Given the description of an element on the screen output the (x, y) to click on. 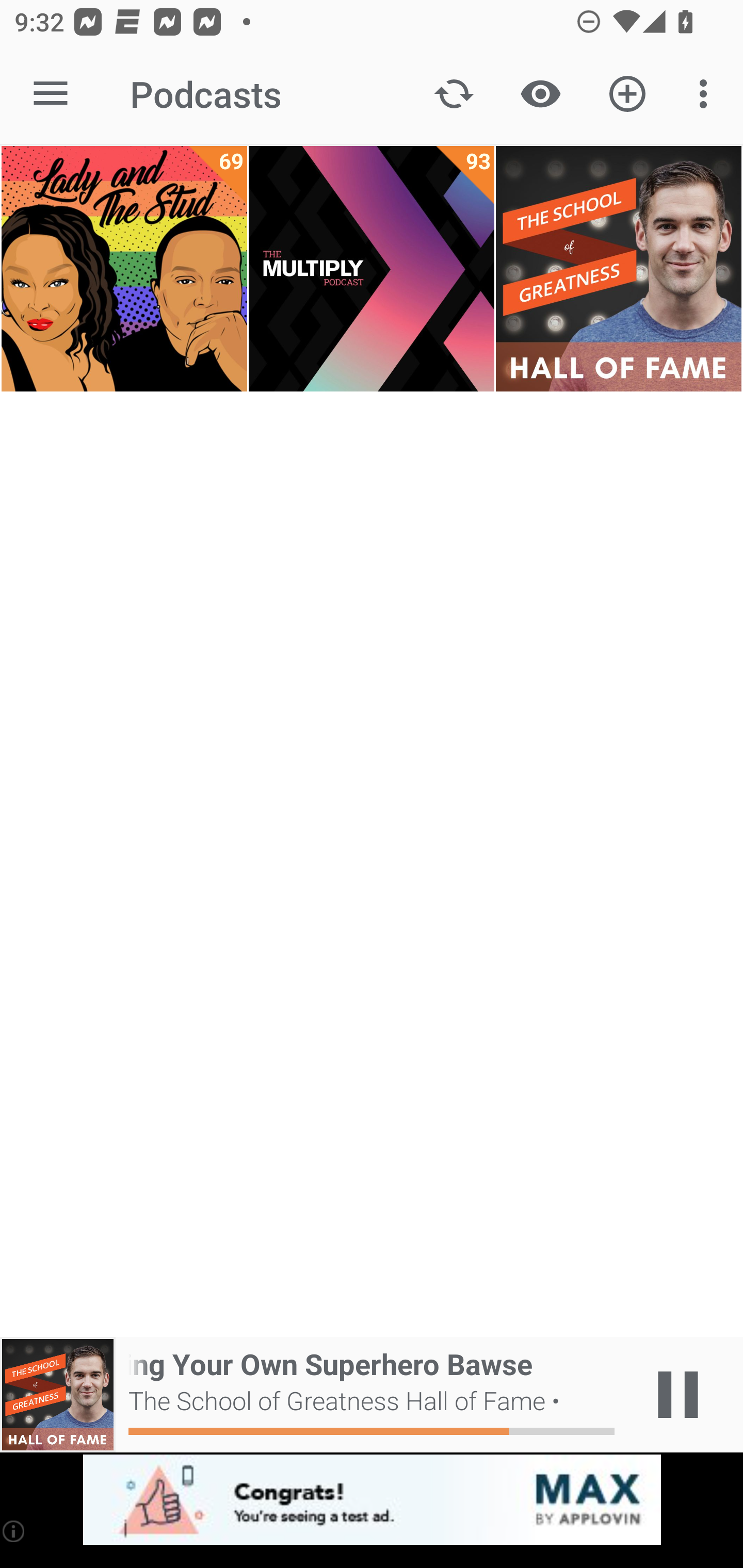
Open navigation sidebar (50, 93)
Update (453, 93)
Show / Hide played content (540, 93)
Add new Podcast (626, 93)
More options (706, 93)
Lady and The Stud 69 (124, 268)
The Multiply Podcast 93 (371, 268)
The School of Greatness Hall of Fame (618, 268)
Play / Pause (677, 1394)
app-monetization (371, 1500)
(i) (14, 1531)
